Given the description of an element on the screen output the (x, y) to click on. 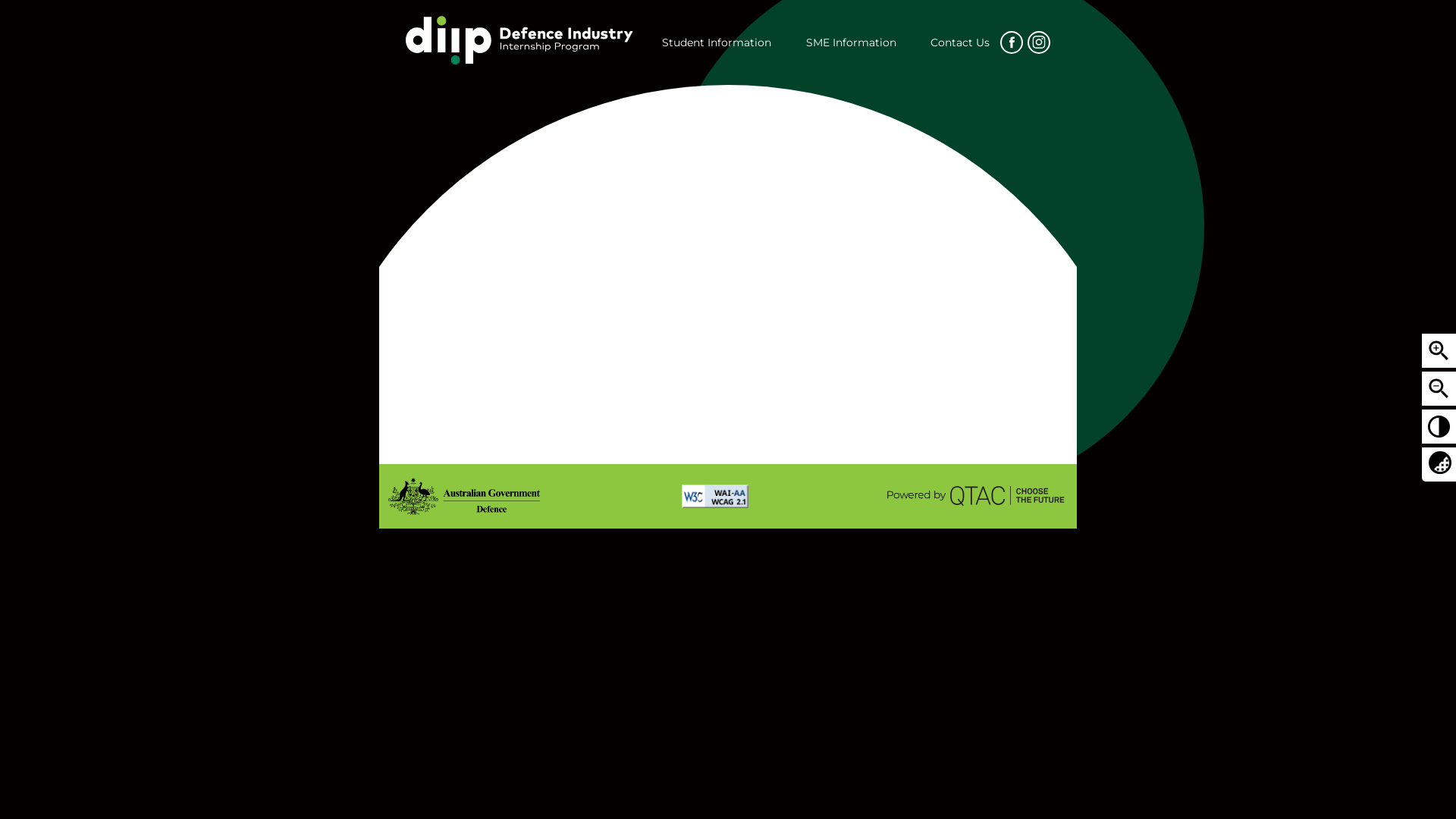
Icon/Instagram Created with Sketch. Element type: text (1038, 42)
Decrease Font Size Element type: hover (1438, 388)
Increase Font Size Element type: hover (1438, 350)
Toggle Contrast Element type: hover (1438, 426)
Icon/Facebook Created with Sketch. Element type: text (1011, 42)
Toggle Greyscale Element type: hover (1438, 462)
Contact Us Element type: text (959, 42)
Student Information Element type: text (716, 42)
SME Information Element type: text (845, 42)
